Given the description of an element on the screen output the (x, y) to click on. 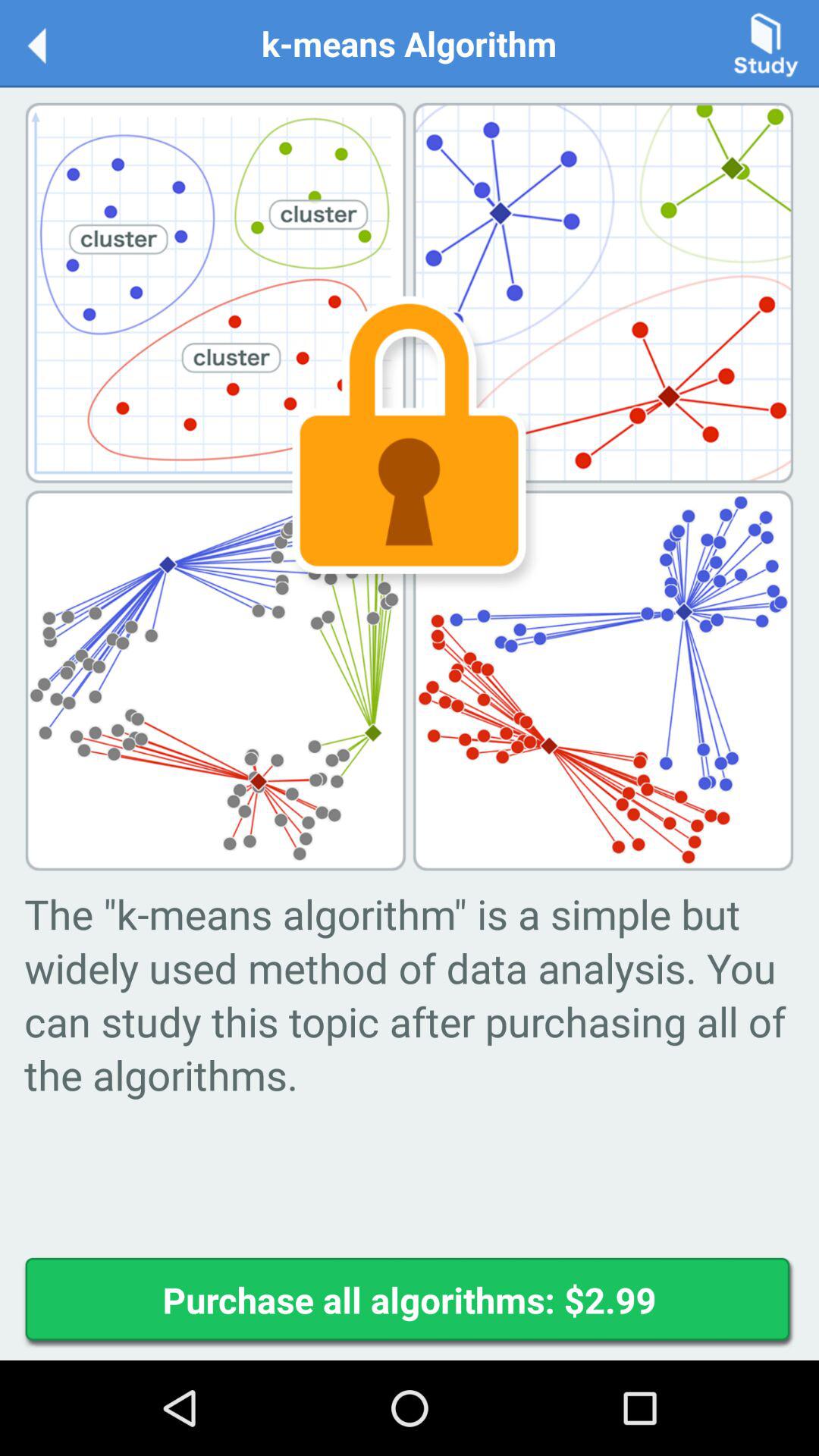
study function (766, 42)
